Given the description of an element on the screen output the (x, y) to click on. 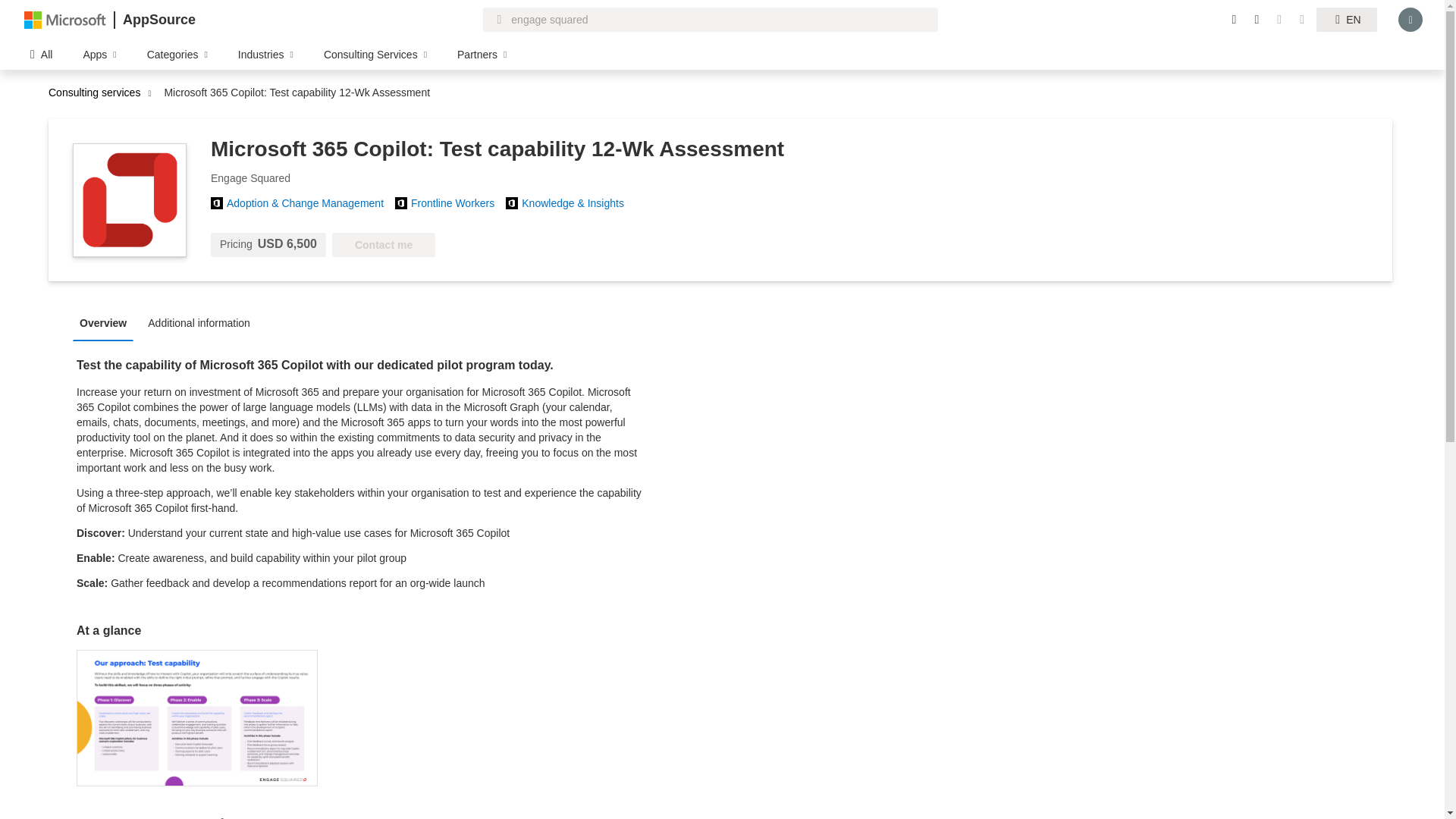
Contact me (383, 244)
Frontline Workers (457, 203)
Microsoft (65, 18)
Frontline Workers (457, 203)
engage squared (699, 19)
Overview (106, 322)
AppSource (158, 19)
Consulting services (98, 92)
Additional information (202, 322)
